Given the description of an element on the screen output the (x, y) to click on. 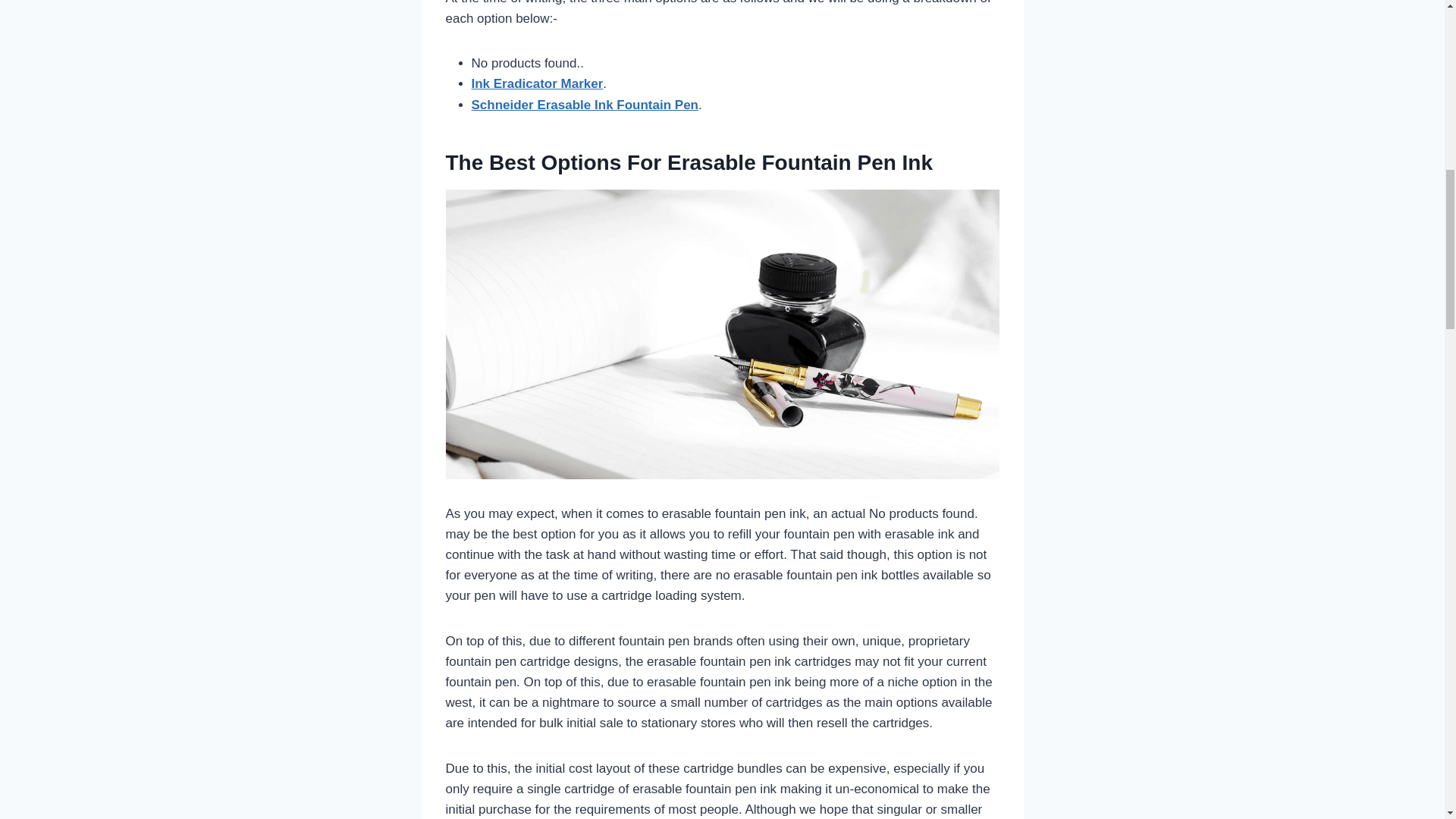
Ink Eradicator Marker (537, 83)
Schneider Erasable Ink Fountain Pen (584, 104)
Ink Eradicator Marker (537, 83)
Schneider Erasable Ink Fountain Pen (584, 104)
